Given the description of an element on the screen output the (x, y) to click on. 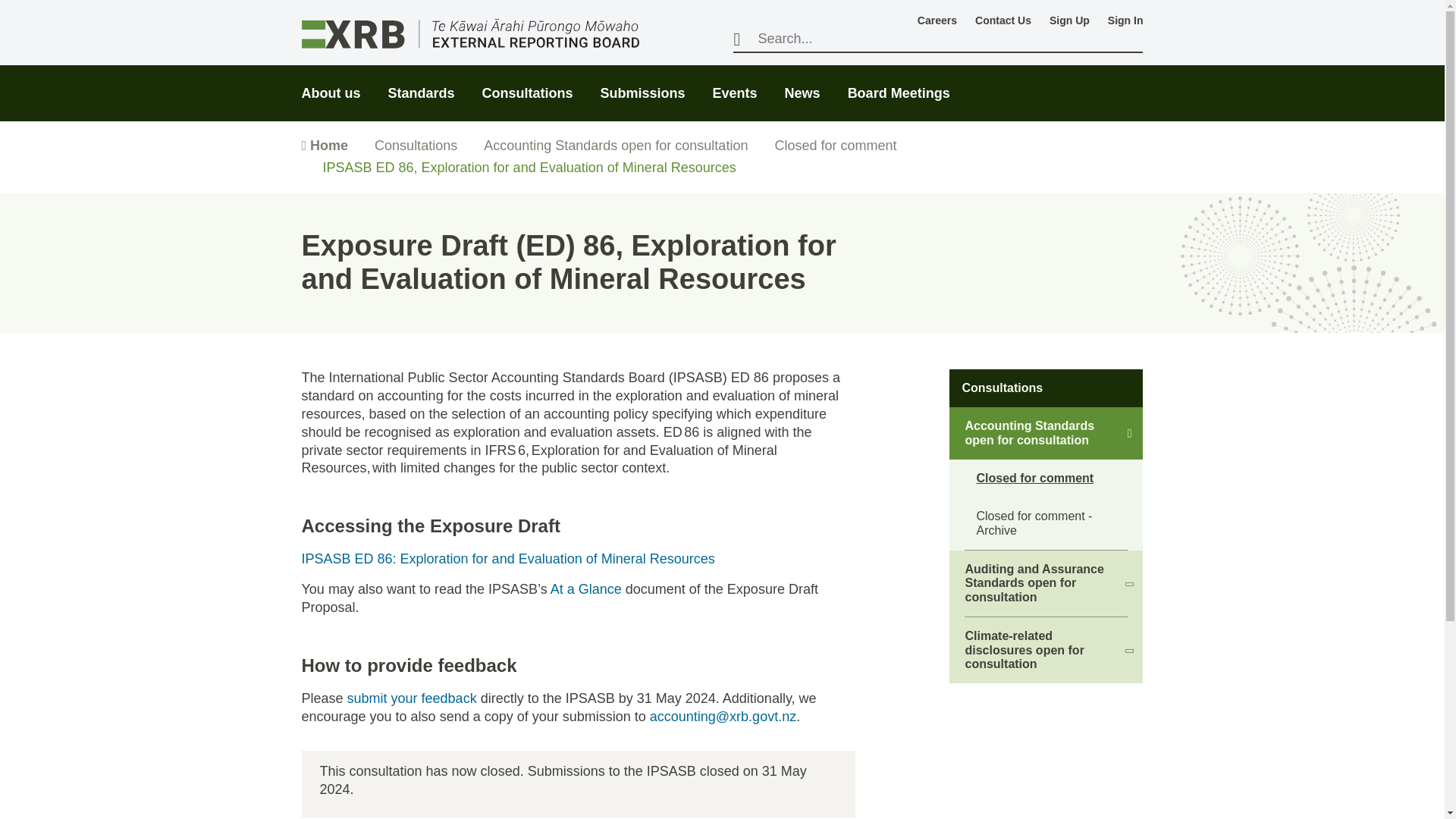
Sign In (1125, 20)
Events (735, 83)
About us (331, 83)
Standards (421, 83)
Careers (936, 20)
Sign Up (1069, 20)
Sign Up (1069, 20)
Contact Us (1002, 20)
Sign In (1125, 20)
Board Meetings (898, 83)
About us (331, 83)
Consultations (527, 83)
Submissions (642, 83)
Consultations (527, 83)
